Given the description of an element on the screen output the (x, y) to click on. 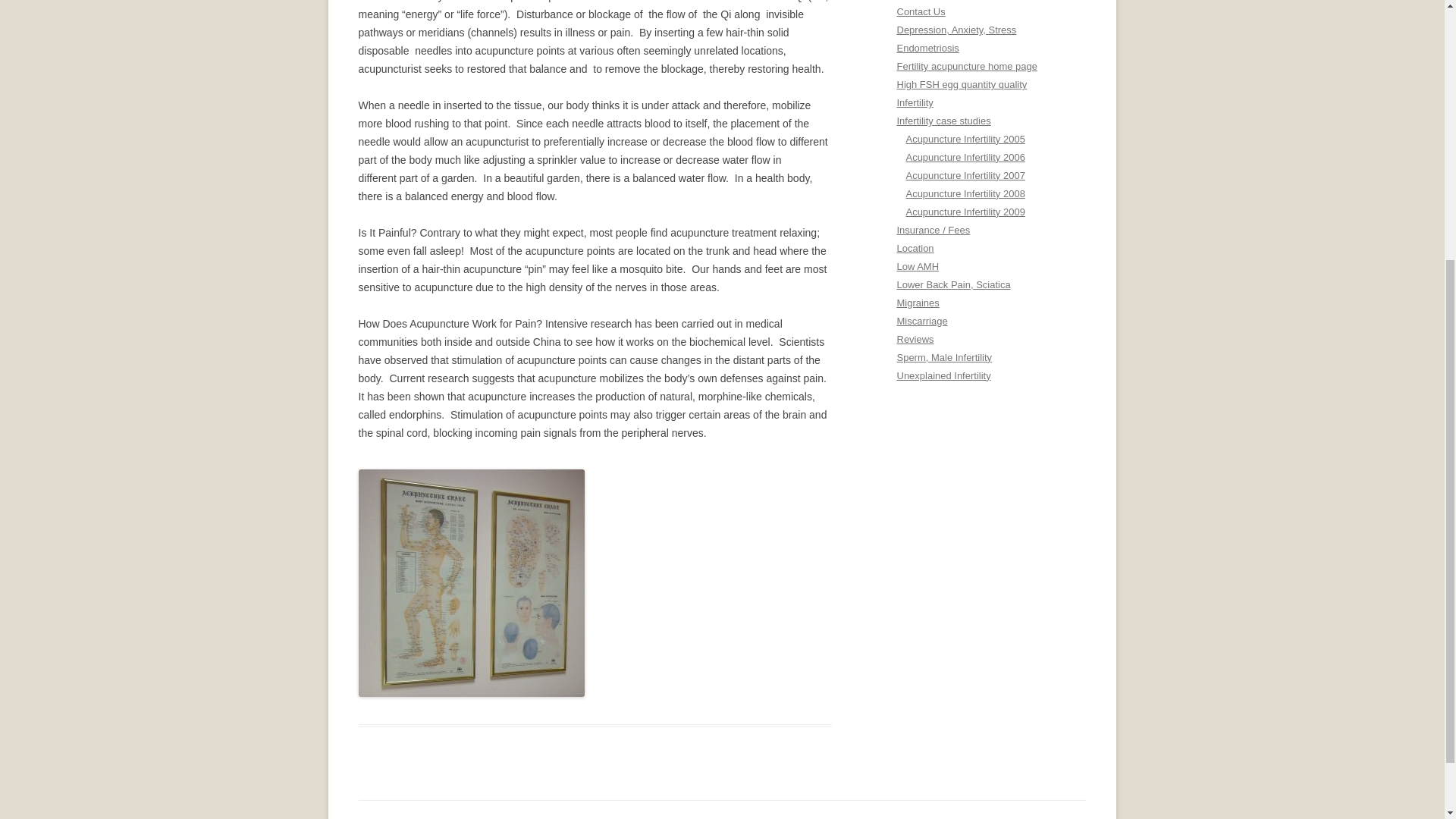
Infertility (914, 102)
Fertility acupuncture home page (966, 66)
High FSH egg quantity quality (961, 84)
Depression, Anxiety, Stress (956, 30)
Contact Us (920, 11)
Infertility case studies (943, 120)
Endometriosis (927, 48)
